Given the description of an element on the screen output the (x, y) to click on. 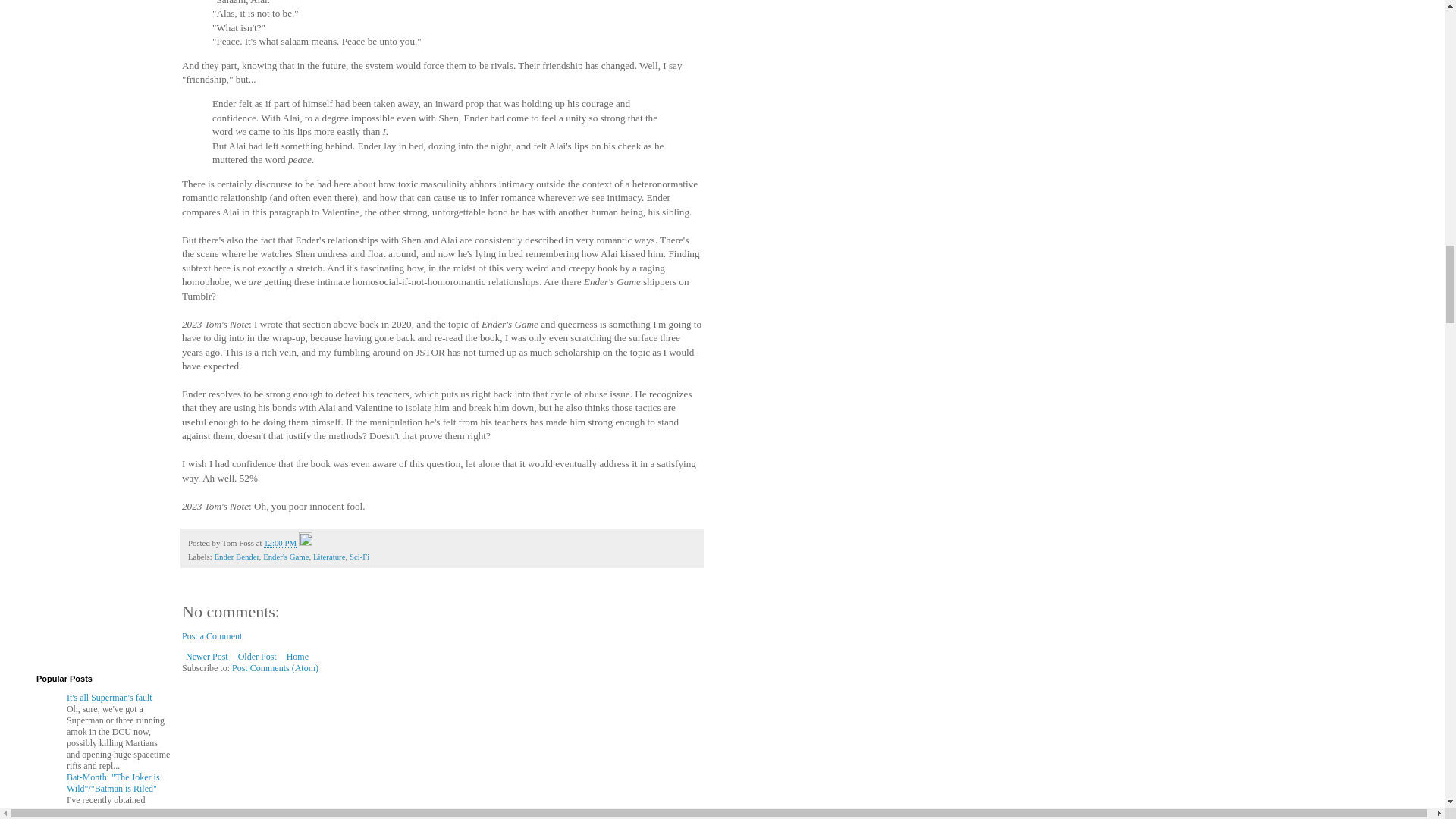
Older Post (257, 656)
Home (297, 656)
Newer Post (206, 656)
It's all Superman's fault (109, 697)
Ender's Game (285, 556)
12:00 PM (280, 542)
Post a Comment (211, 635)
Newer Post (206, 656)
Older Post (257, 656)
permanent link (280, 542)
Literature (329, 556)
Sci-Fi (359, 556)
Ender Bender (236, 556)
Edit Post (305, 542)
